Given the description of an element on the screen output the (x, y) to click on. 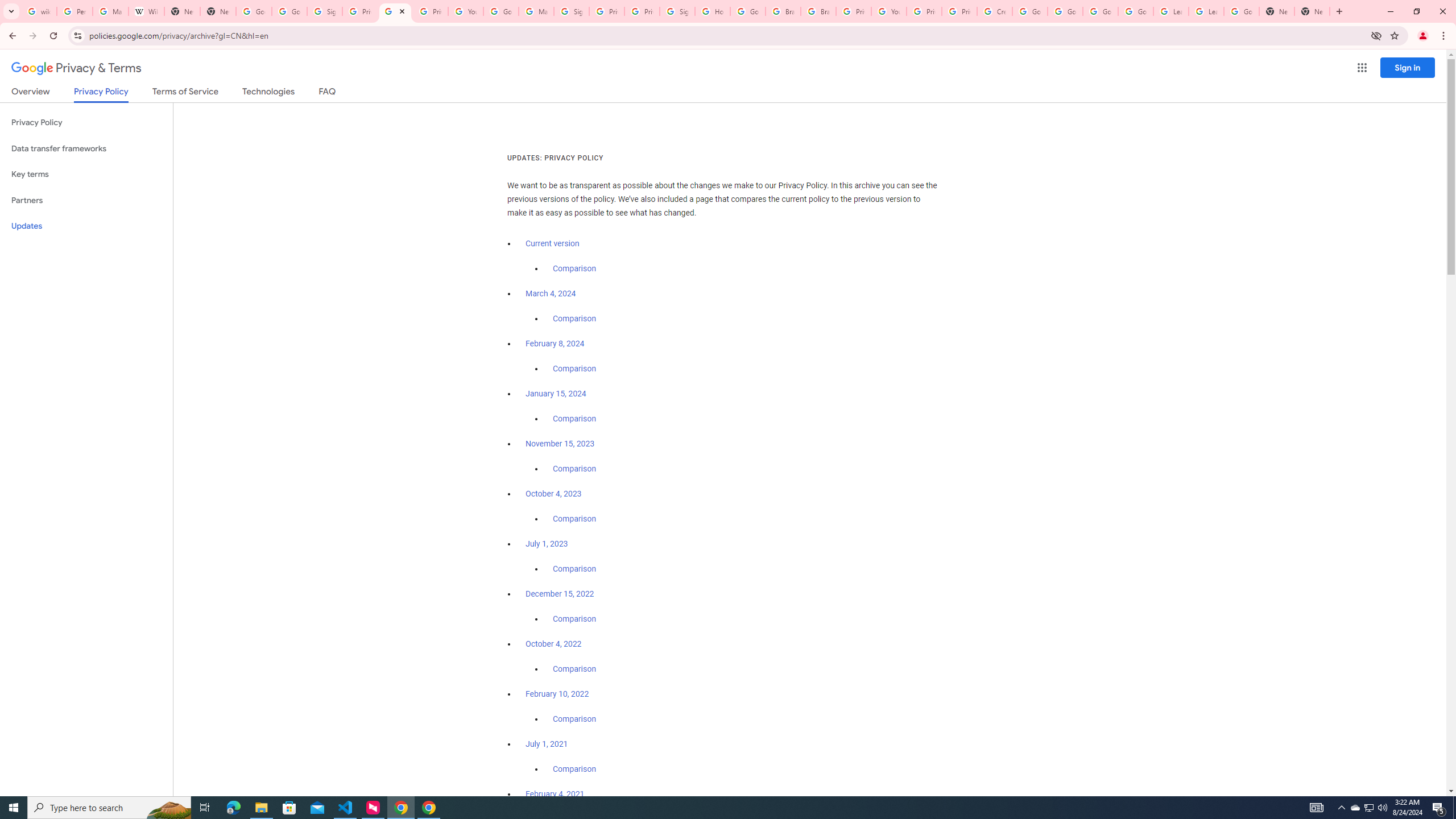
December 15, 2022 (559, 593)
Create your Google Account (994, 11)
Personalization & Google Search results - Google Search Help (74, 11)
Google Account Help (1064, 11)
